Given the description of an element on the screen output the (x, y) to click on. 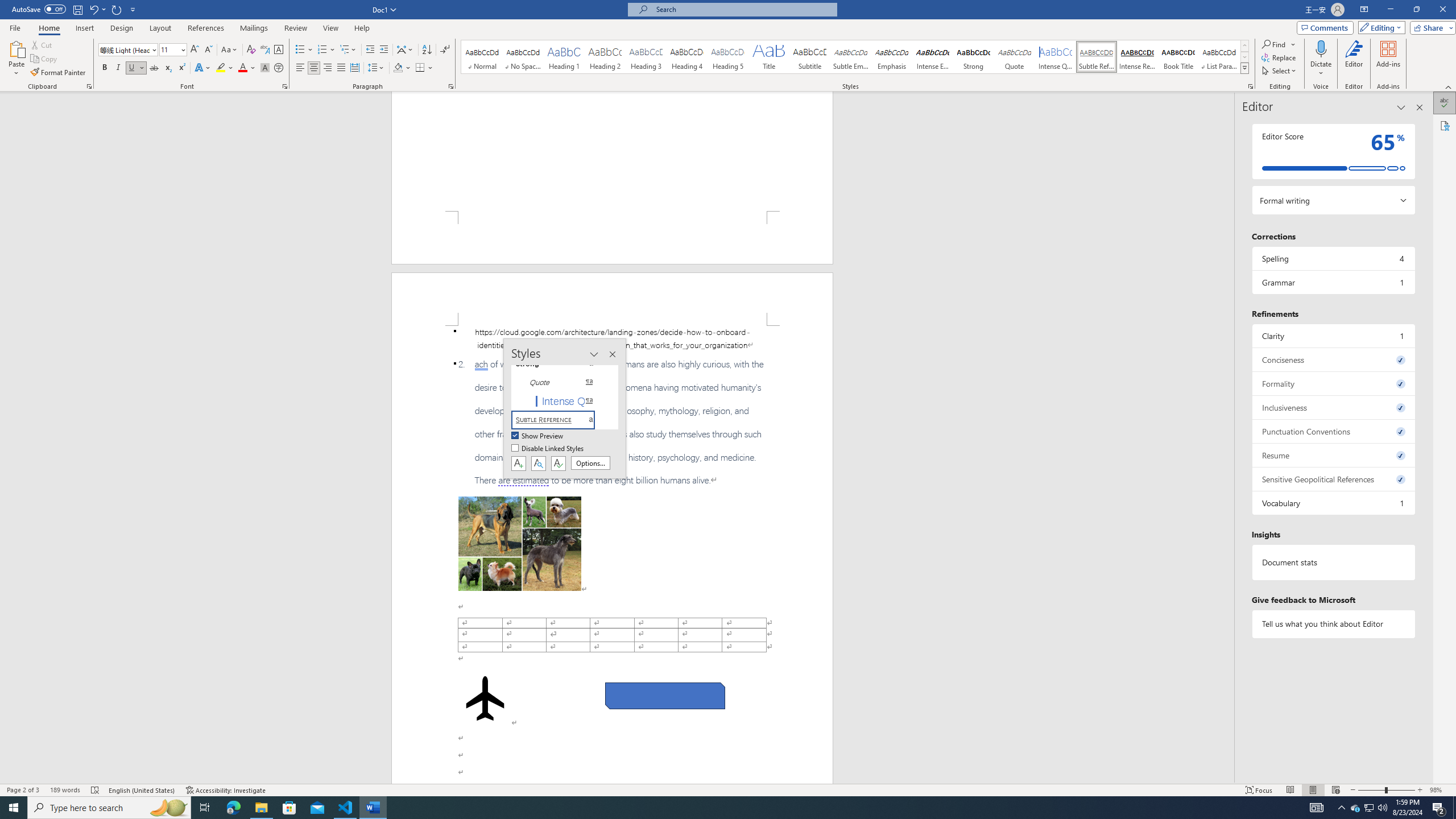
Font Color (246, 67)
Comments (1325, 27)
Class: NetUIScrollBar (1229, 437)
Conciseness, 0 issues. Press space or enter to review items. (1333, 359)
Select (1279, 69)
Align Right (327, 67)
Change Case (229, 49)
Heading 4 (686, 56)
Paragraph... (450, 85)
Language English (United States) (141, 790)
Distributed (354, 67)
Heading 2 (605, 56)
Shrink Font (208, 49)
